Given the description of an element on the screen output the (x, y) to click on. 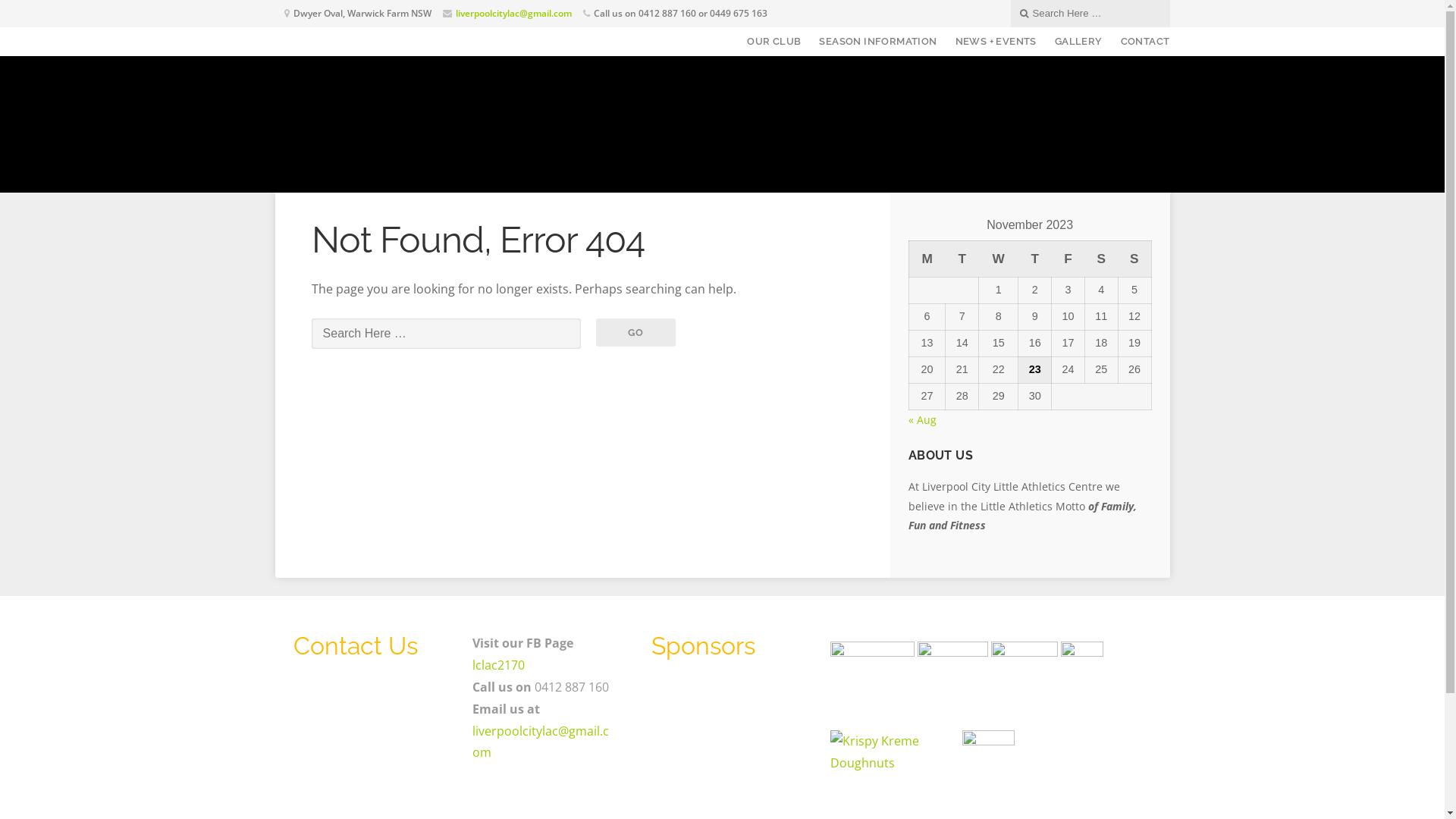
liverpoolcitylac@gmail.com Element type: text (539, 741)
lclac2170 Element type: text (497, 664)
CONTACT Element type: text (1140, 41)
OUR CLUB Element type: text (773, 41)
GALLERY Element type: text (1078, 41)
Go Element type: text (98, 11)
NEWS + EVENTS Element type: text (995, 41)
liverpoolcitylac@gmail.com Element type: text (513, 12)
Go Element type: text (636, 332)
SEASON INFORMATION Element type: text (877, 41)
